Given the description of an element on the screen output the (x, y) to click on. 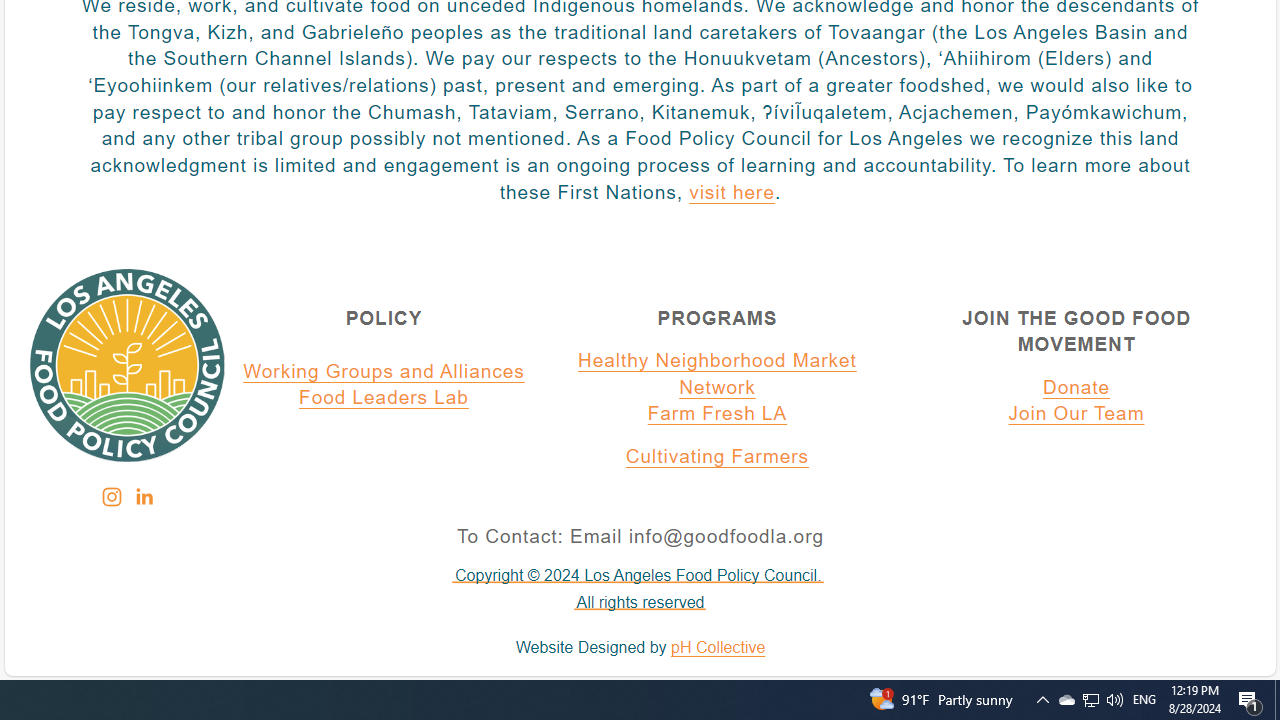
Donate (1076, 387)
Farm Fresh LA (717, 415)
pH Collective (717, 647)
Instagram (111, 497)
Food Leaders Lab (383, 399)
visit here (731, 193)
Join Our Team (1076, 415)
Class: sqs-svg-icon--social (142, 496)
Working Groups and Alliances (383, 371)
Healthy Neighborhood Market Network (717, 374)
Cultivating Farmers  (717, 457)
LinkedIn (143, 497)
